Given the description of an element on the screen output the (x, y) to click on. 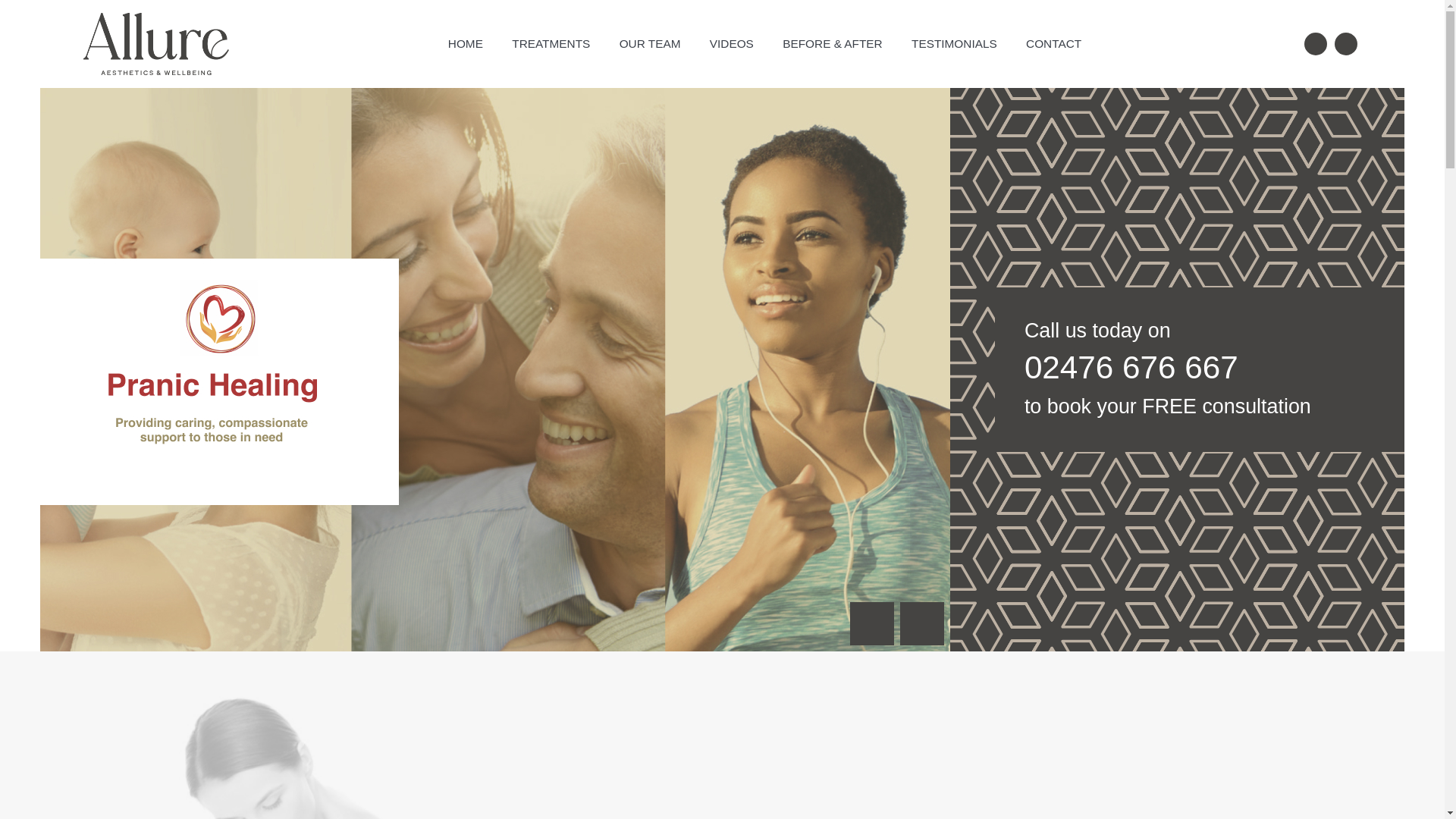
TESTIMONIALS (954, 42)
VIDEOS (732, 42)
TREATMENTS (550, 42)
HOME (465, 42)
OUR TEAM (650, 42)
